Given the description of an element on the screen output the (x, y) to click on. 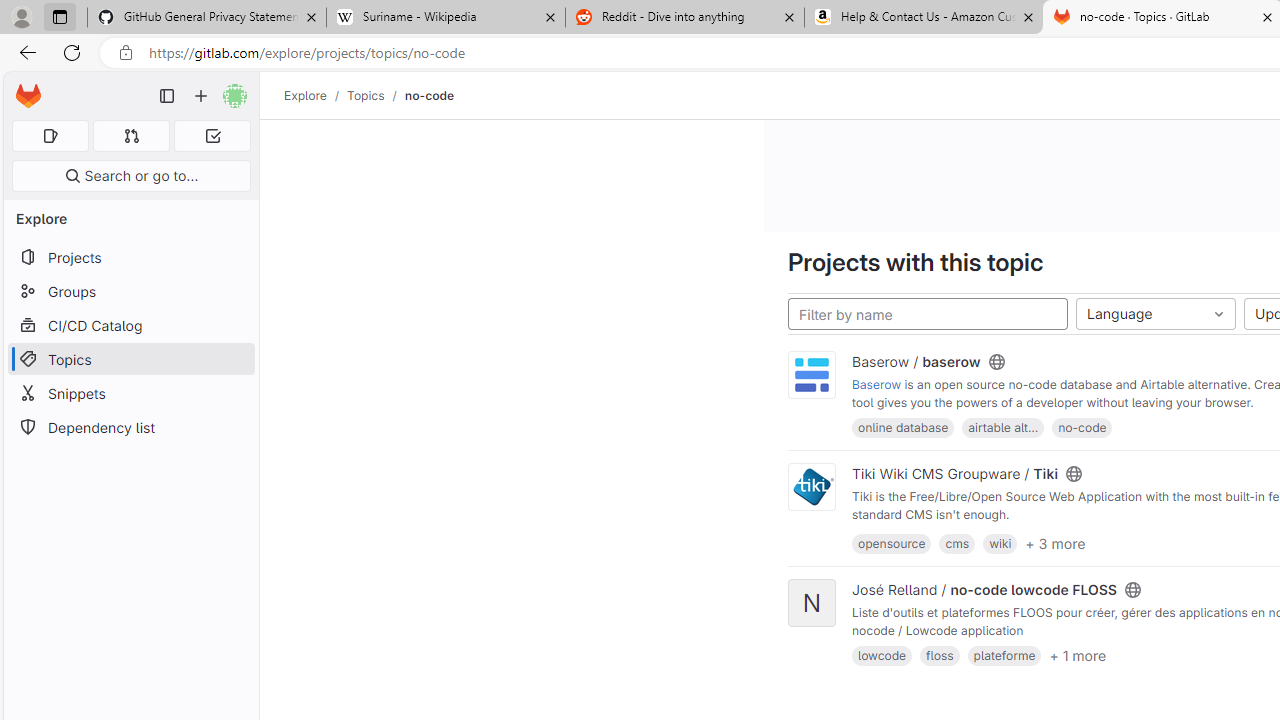
Create new... (201, 96)
Explore (305, 95)
Projects (130, 257)
airtable alt... (1003, 426)
Suriname - Wikipedia (445, 17)
Dependency list (130, 427)
+ 1 more (1077, 655)
